Given the description of an element on the screen output the (x, y) to click on. 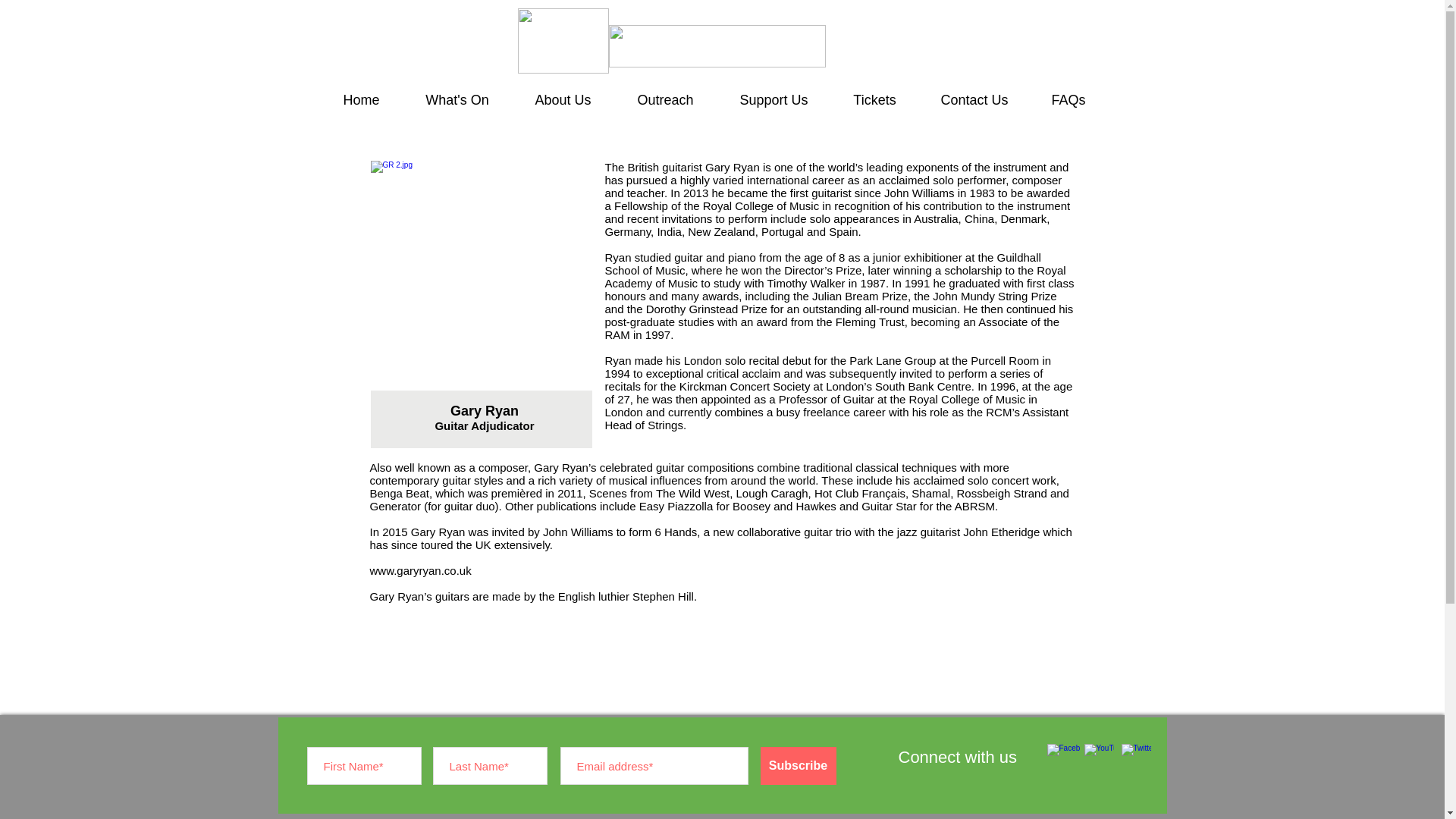
Subscribe (797, 765)
Home (360, 99)
www.garyryan.co.uk (420, 570)
Tickets (874, 99)
FAQs (1067, 99)
Support Us (772, 99)
About Us (561, 99)
Contact Us (973, 99)
